Given the description of an element on the screen output the (x, y) to click on. 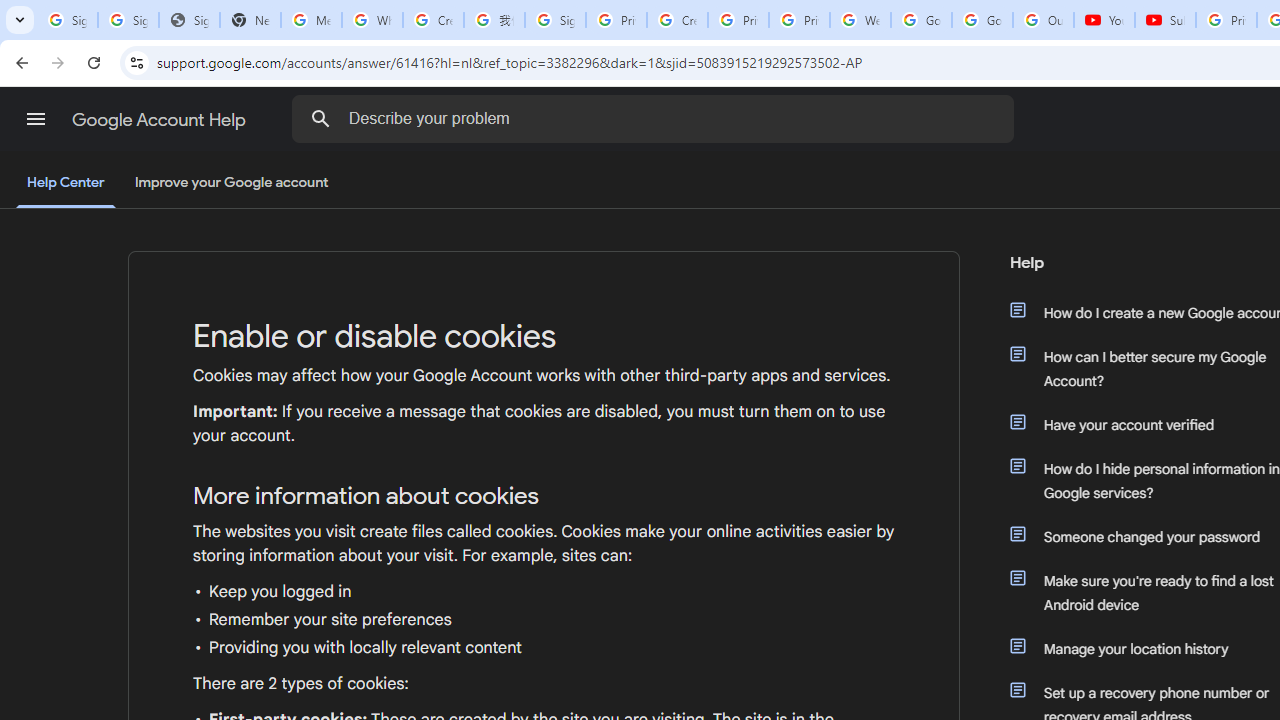
Google Account (982, 20)
YouTube (1104, 20)
New Tab (250, 20)
Create your Google Account (676, 20)
Subscriptions - YouTube (1165, 20)
Search the Help Center (320, 118)
Sign In - USA TODAY (189, 20)
